Given the description of an element on the screen output the (x, y) to click on. 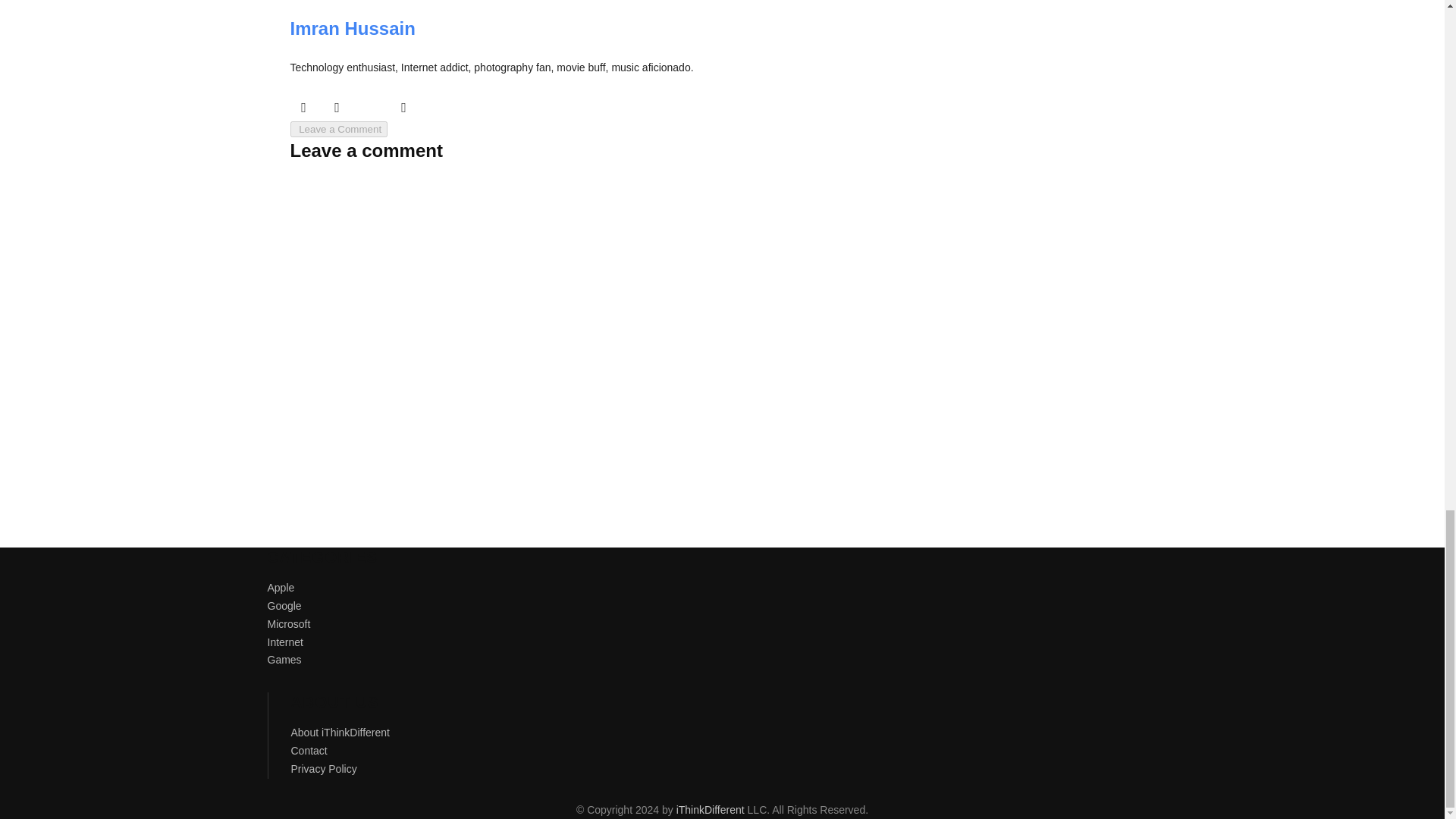
Follow me on Facebook (336, 106)
Send me an email! (403, 106)
Imran Hussain (351, 28)
Follow me on Twitter (303, 106)
